Given the description of an element on the screen output the (x, y) to click on. 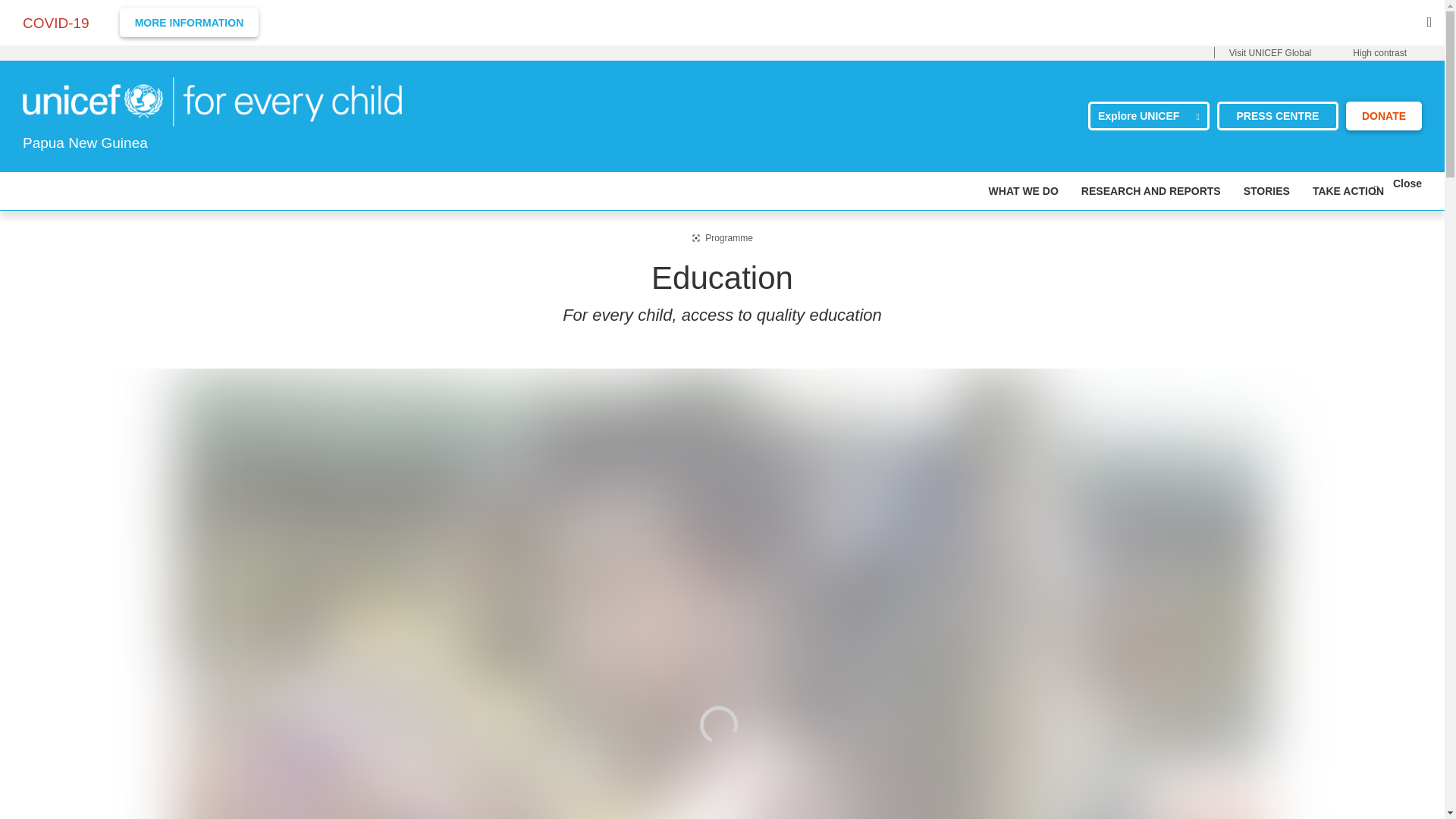
Explore UNICEF (1148, 115)
MORE INFORMATION (189, 22)
TAKE ACTION (1348, 190)
UNICEF (212, 100)
STORIES (1266, 190)
Visit UNICEF Global (1269, 52)
WHAT WE DO (1023, 190)
Explore UNICEF (1148, 115)
RESEARCH AND REPORTS (1151, 190)
